Given the description of an element on the screen output the (x, y) to click on. 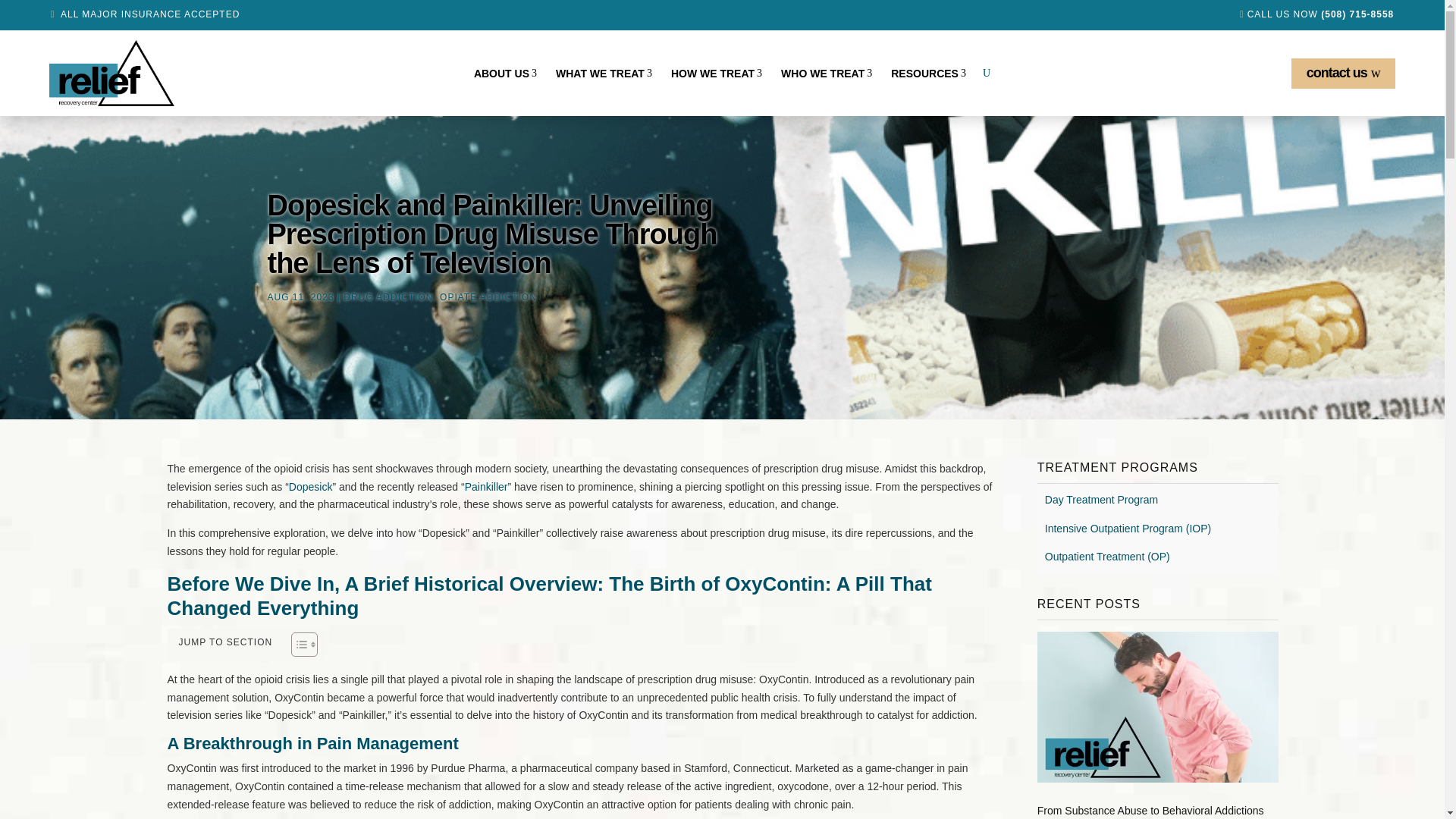
ALL MAJOR INSURANCE ACCEPTED (928, 73)
